Given the description of an element on the screen output the (x, y) to click on. 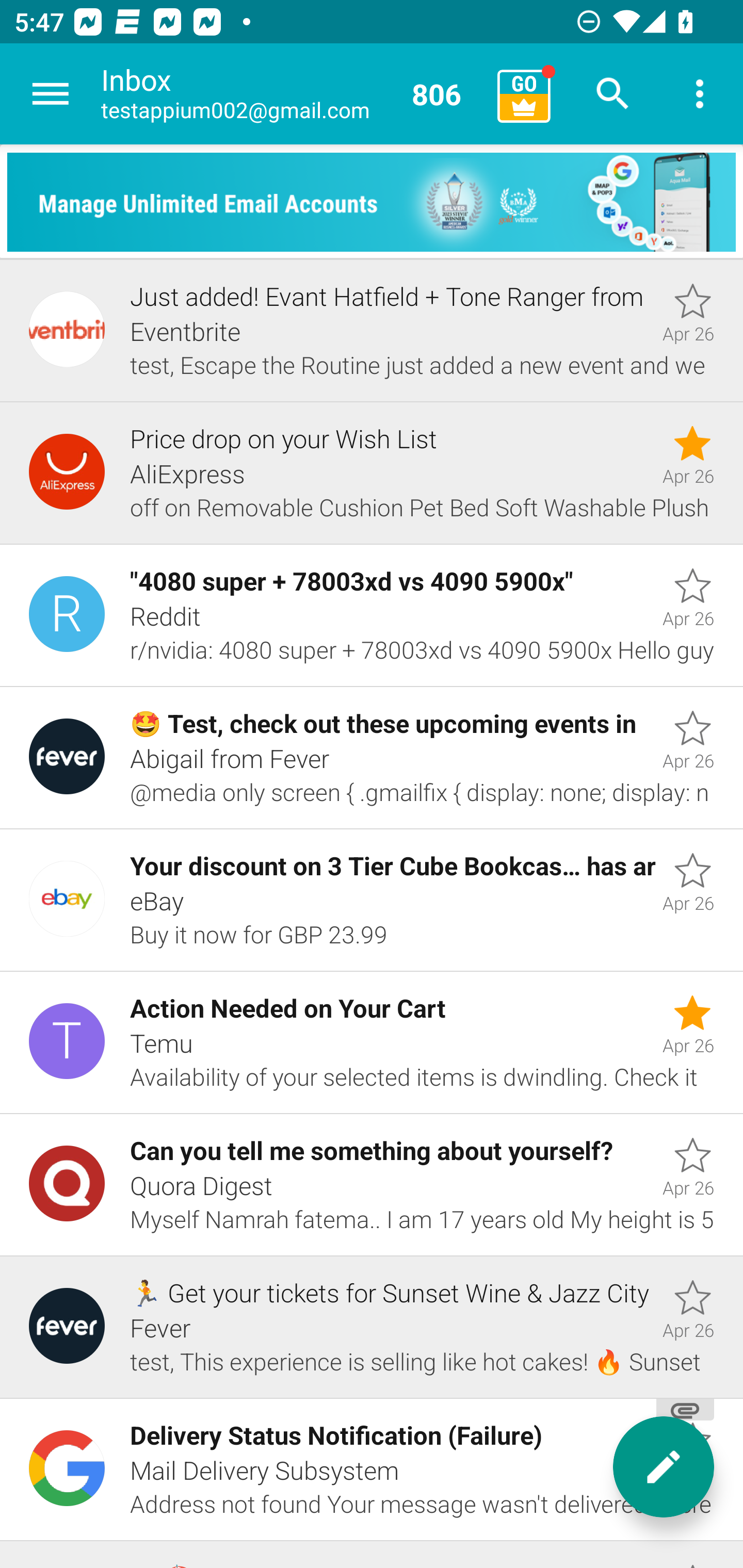
Navigate up (50, 93)
Inbox testappium002@gmail.com 806 (291, 93)
Search (612, 93)
More options (699, 93)
New message (663, 1466)
